Given the description of an element on the screen output the (x, y) to click on. 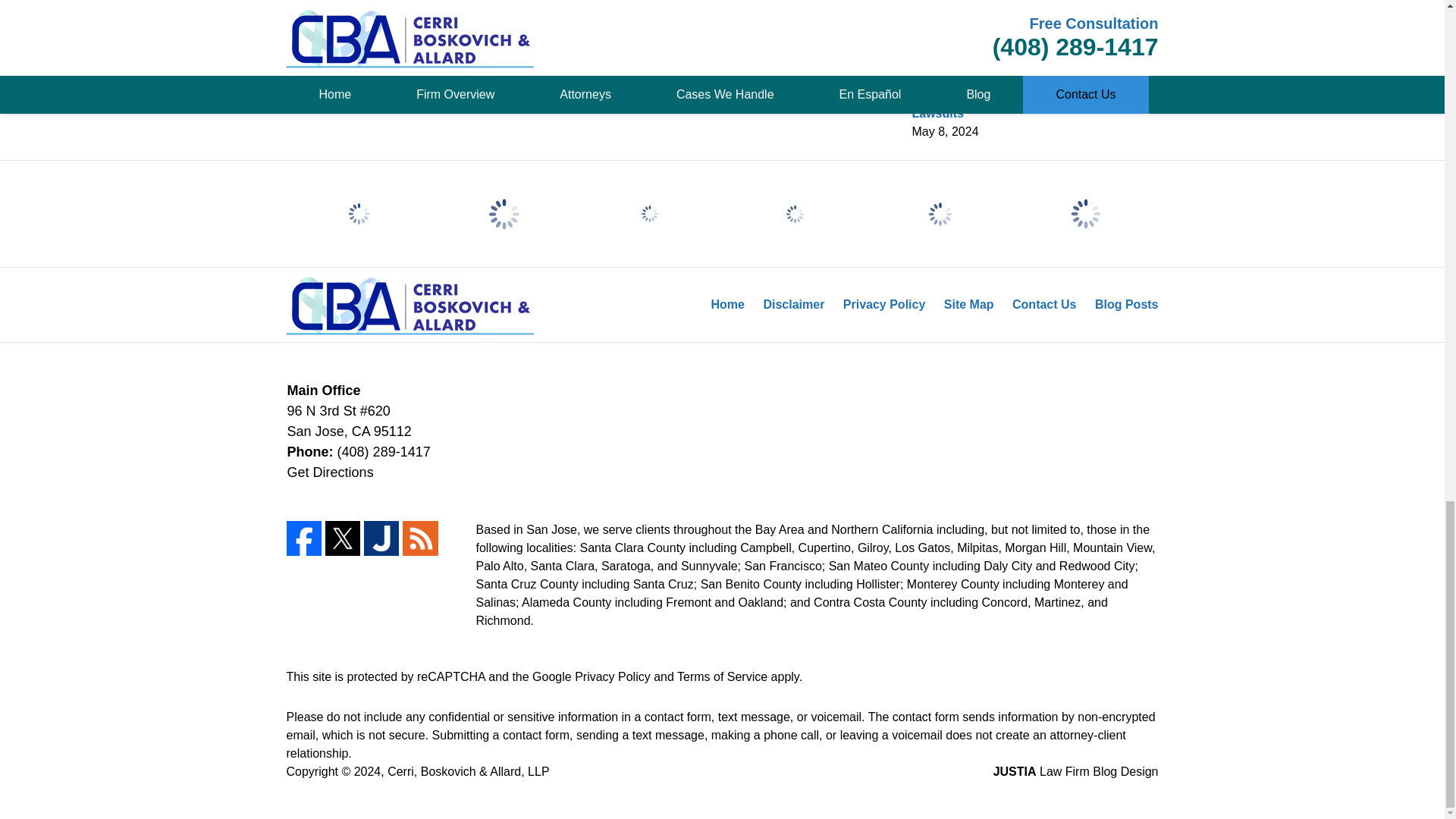
Feed (420, 538)
Bay Area Track Coach Chioke Robinson Arrested for Sex Crimes (443, 106)
View all posts in Featured Articles (507, 20)
Facebook (303, 538)
Justia (381, 538)
View all posts in Coach Sexual Abuse (388, 20)
Twitter (341, 538)
